Given the description of an element on the screen output the (x, y) to click on. 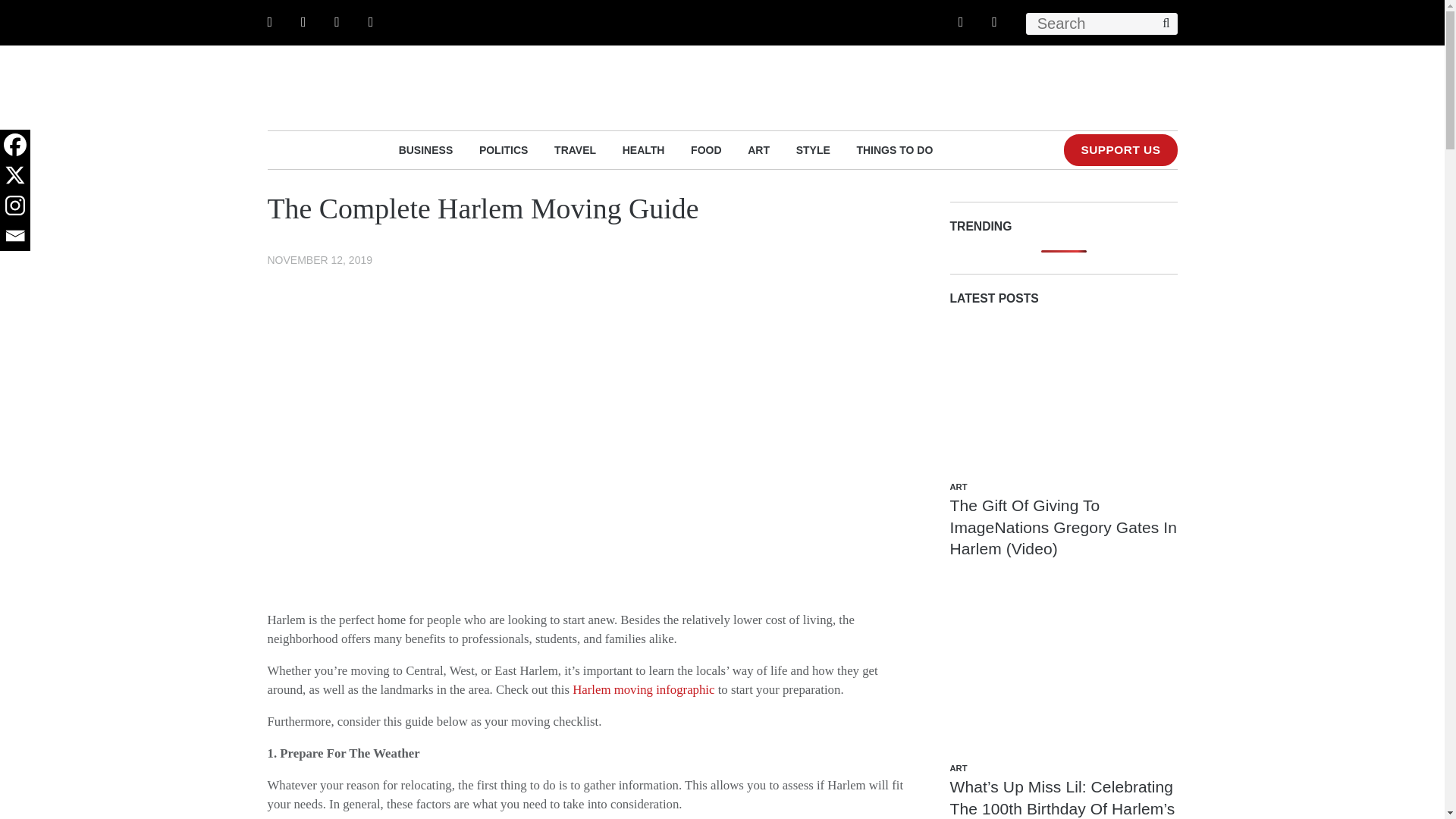
X (15, 174)
Instagram (15, 205)
BUSINESS (425, 149)
Facebook (15, 144)
Harlem moving infographic (643, 689)
THINGS TO DO (894, 149)
TRAVEL (574, 149)
SUPPORT US (1120, 150)
STYLE (812, 149)
POLITICS (503, 149)
